Given the description of an element on the screen output the (x, y) to click on. 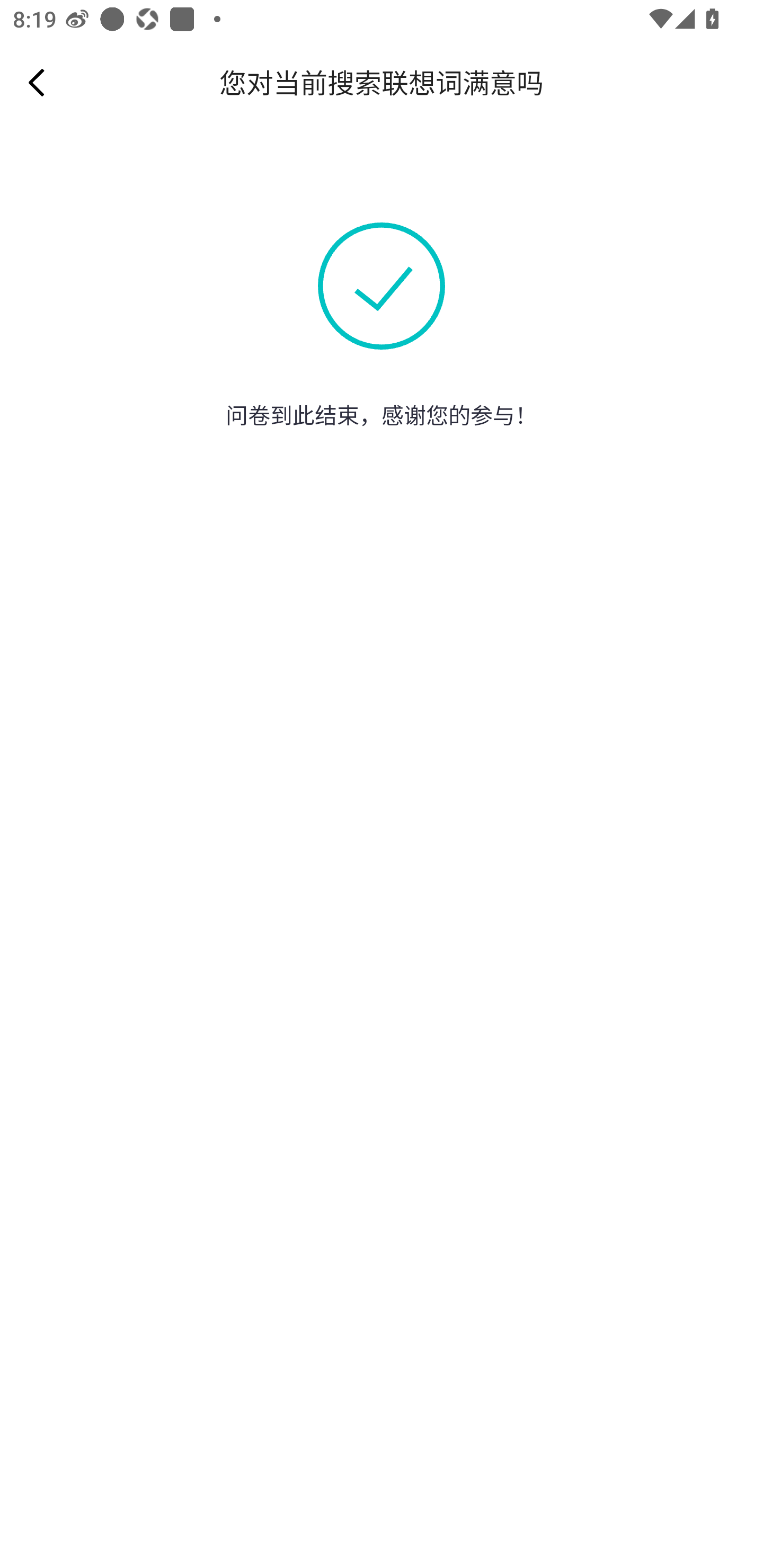
Navigate up (36, 82)
